Given the description of an element on the screen output the (x, y) to click on. 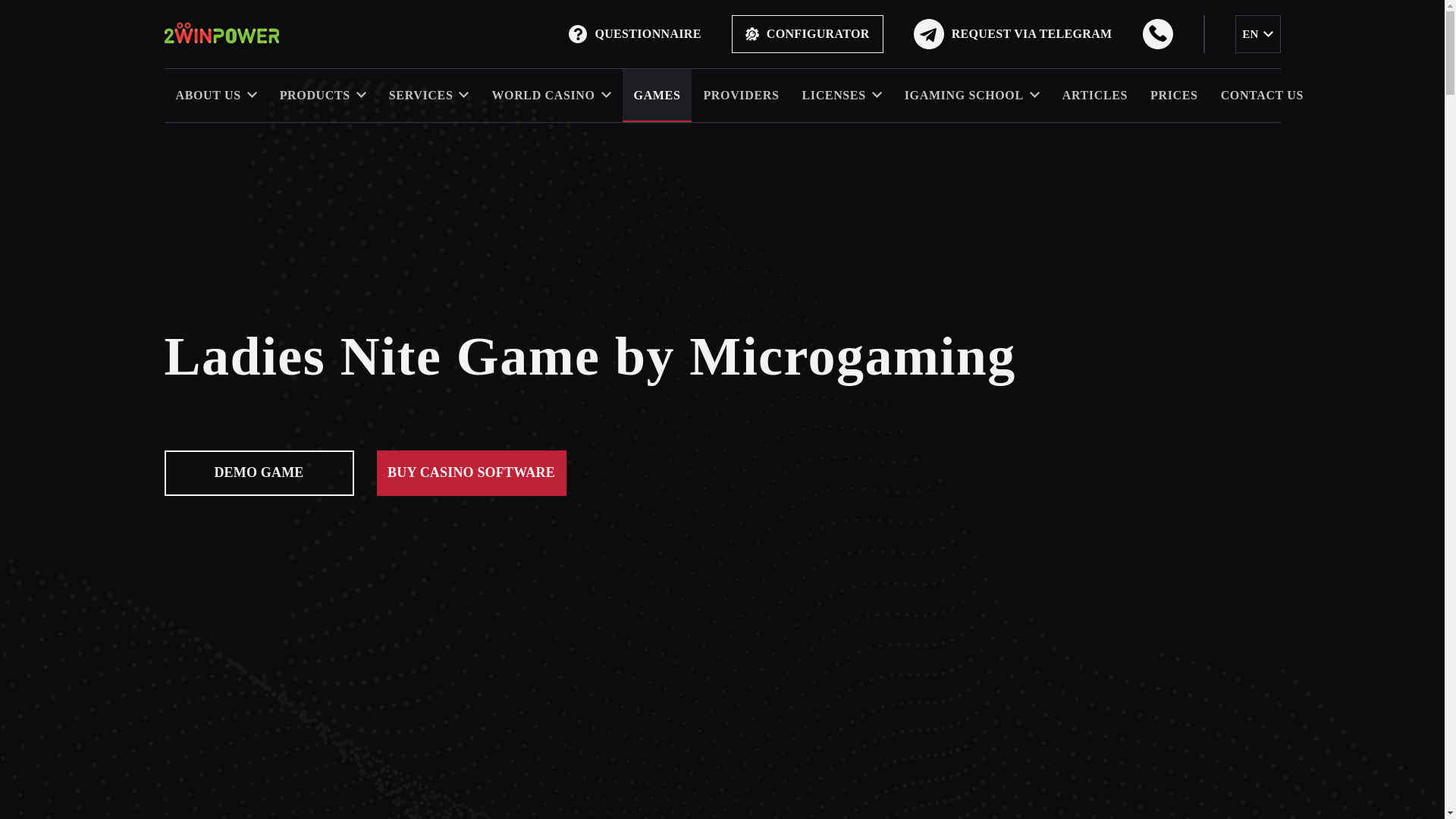
WORLD CASINO (550, 95)
REQUEST VIA TELEGRAM (1013, 33)
PRODUCTS (322, 95)
CONFIGURATOR (807, 34)
ABOUT US (215, 95)
SERVICES (428, 95)
QUESTIONNAIRE (634, 34)
